Given the description of an element on the screen output the (x, y) to click on. 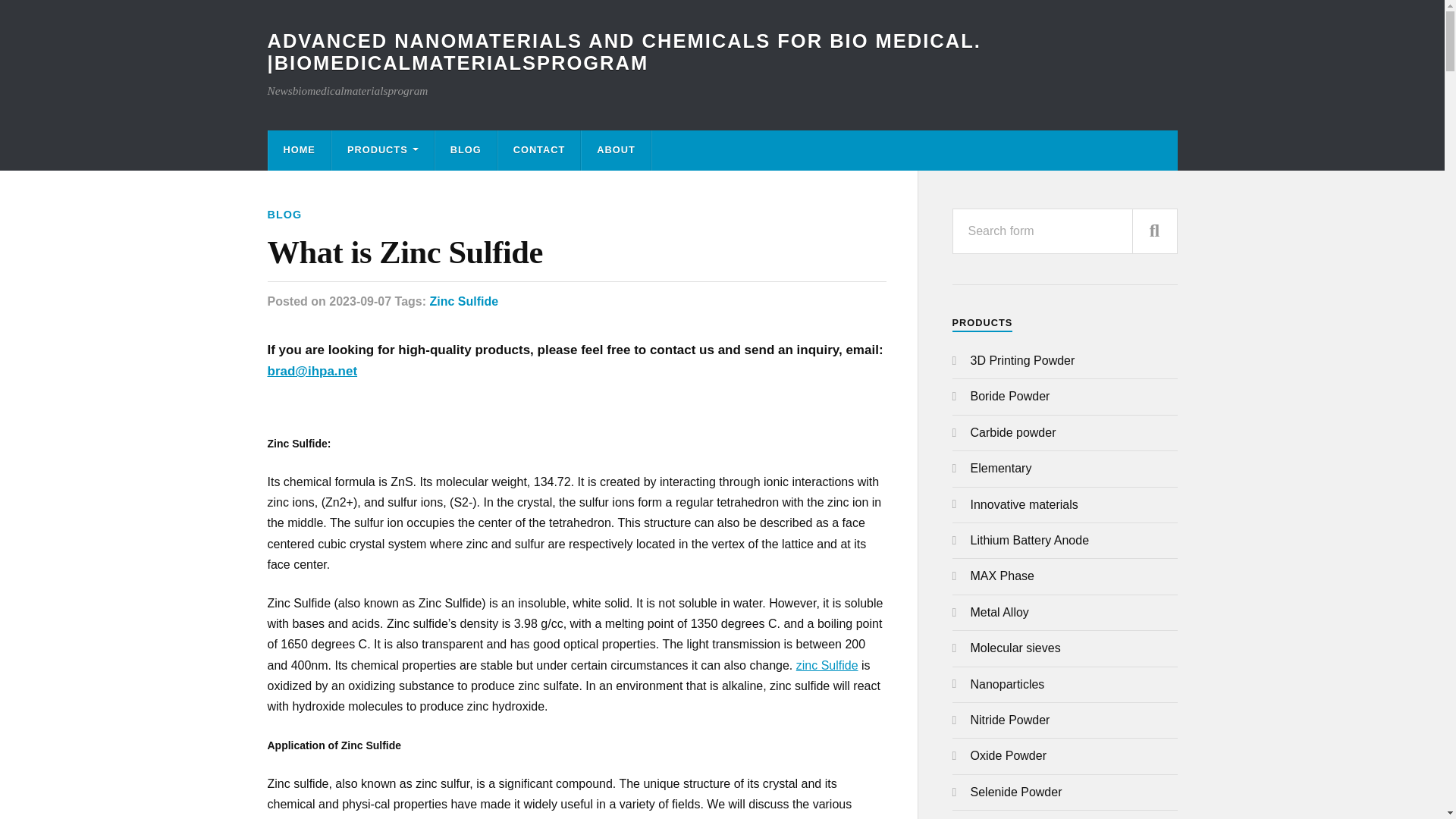
CONTACT (538, 150)
Zinc Sulfide (827, 665)
PRODUCTS (382, 150)
ABOUT (615, 150)
BLOG (465, 150)
HOME (298, 150)
